Given the description of an element on the screen output the (x, y) to click on. 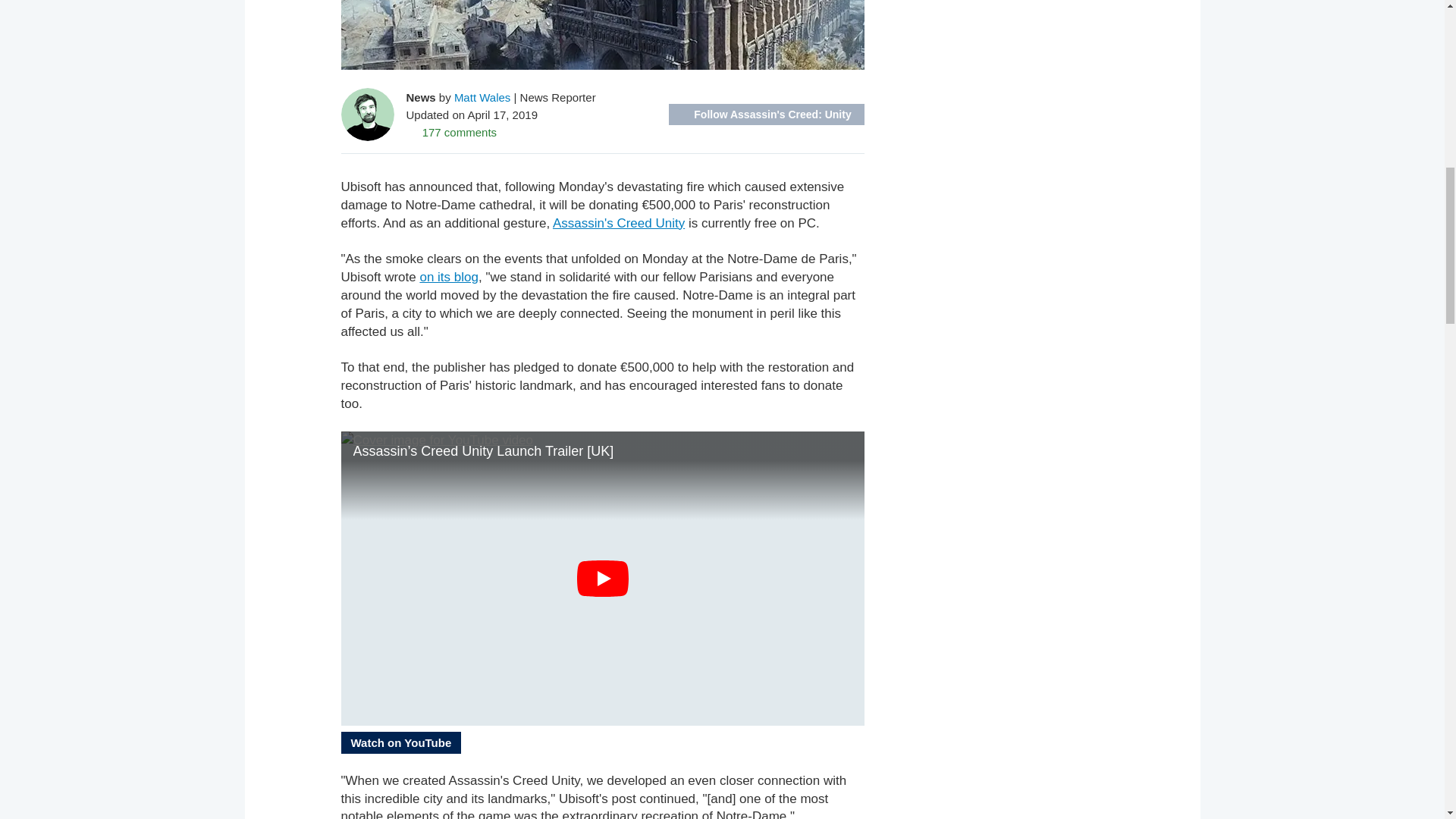
Assassin's Creed Unity (618, 223)
Watch on YouTube (400, 742)
Matt Wales (482, 97)
on its blog (449, 277)
177 comments (451, 132)
Follow Assassin's Creed: Unity (766, 114)
